Given the description of an element on the screen output the (x, y) to click on. 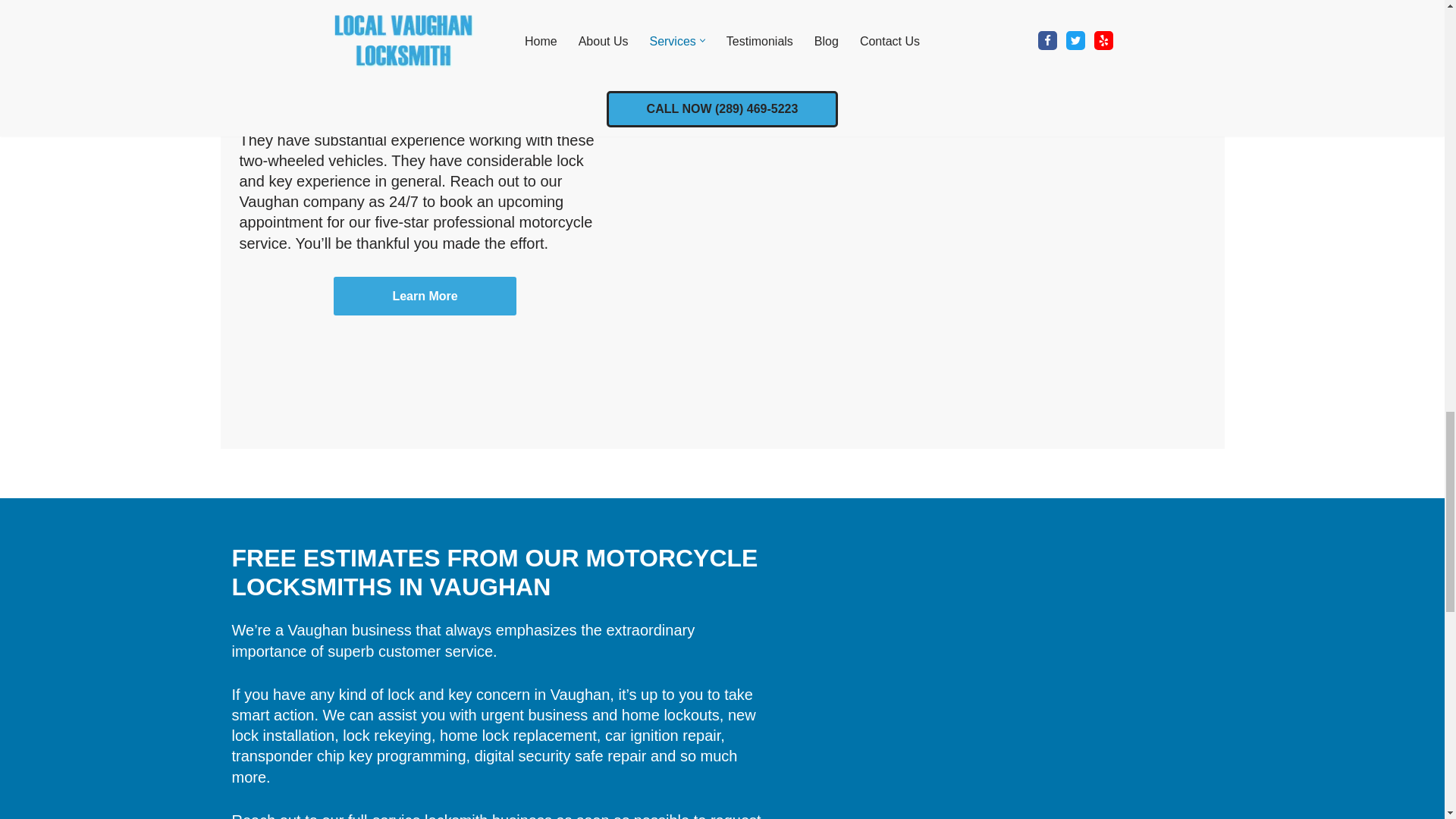
Learn More (424, 296)
